Given the description of an element on the screen output the (x, y) to click on. 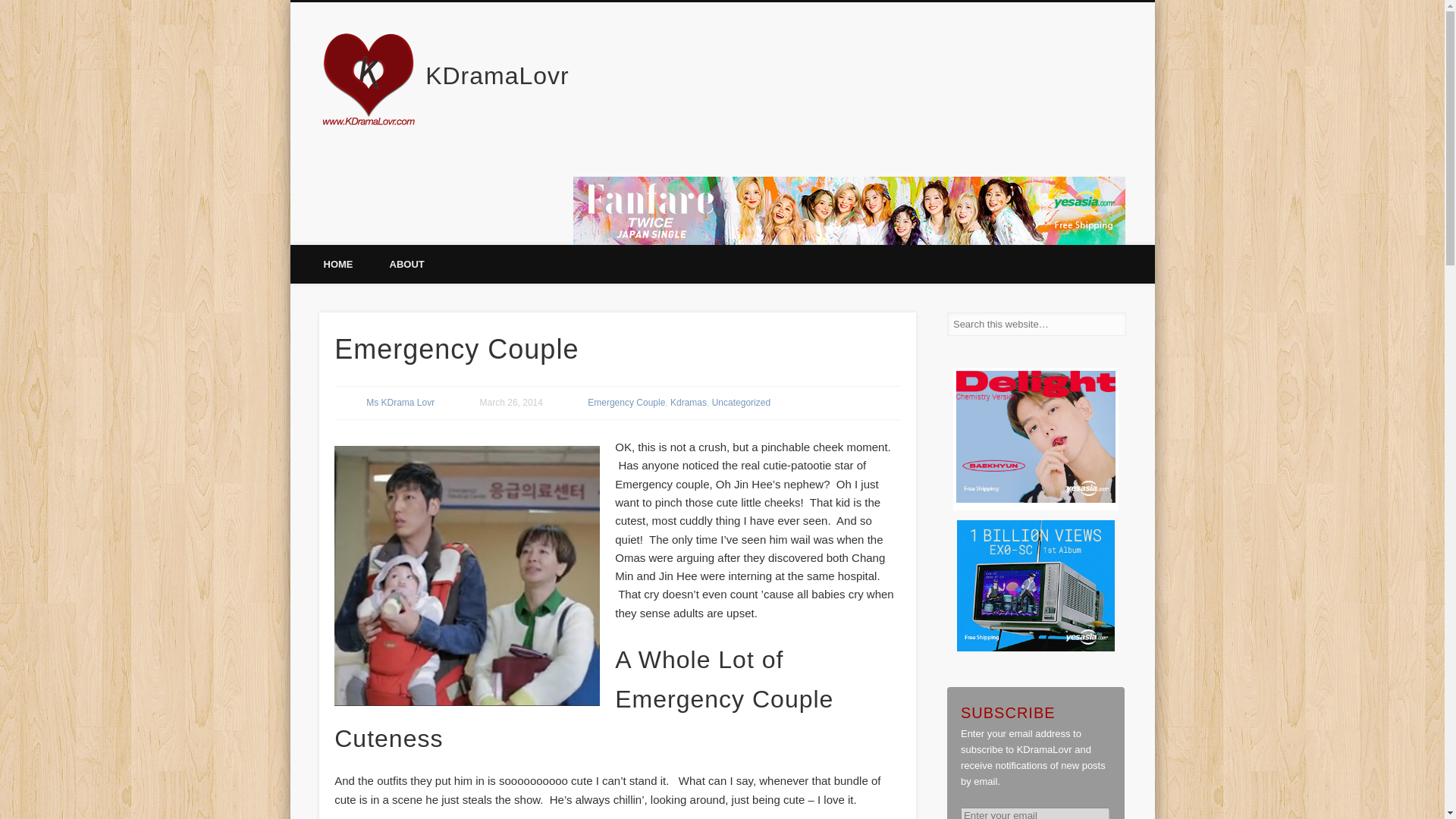
About The Blogger (406, 263)
Kdramas (687, 402)
Uncategorized (740, 402)
Emergency Couple (626, 402)
HOME (337, 263)
Ms KDrama Lovr (399, 402)
KDramaLovr (497, 75)
ABOUT (406, 263)
KDramaLovr.com (337, 263)
Search (11, 7)
